Given the description of an element on the screen output the (x, y) to click on. 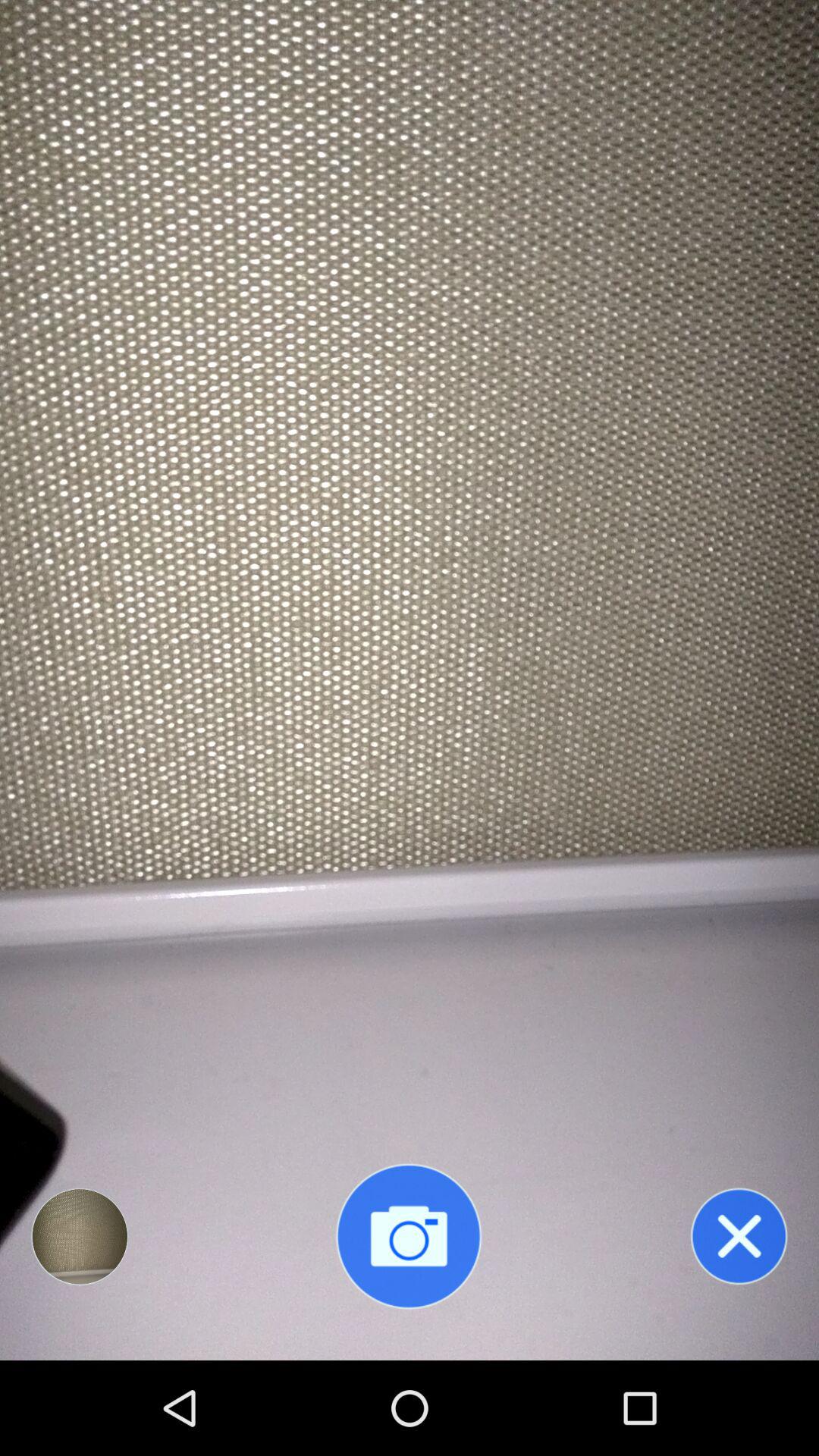
go to exit (738, 1236)
